Given the description of an element on the screen output the (x, y) to click on. 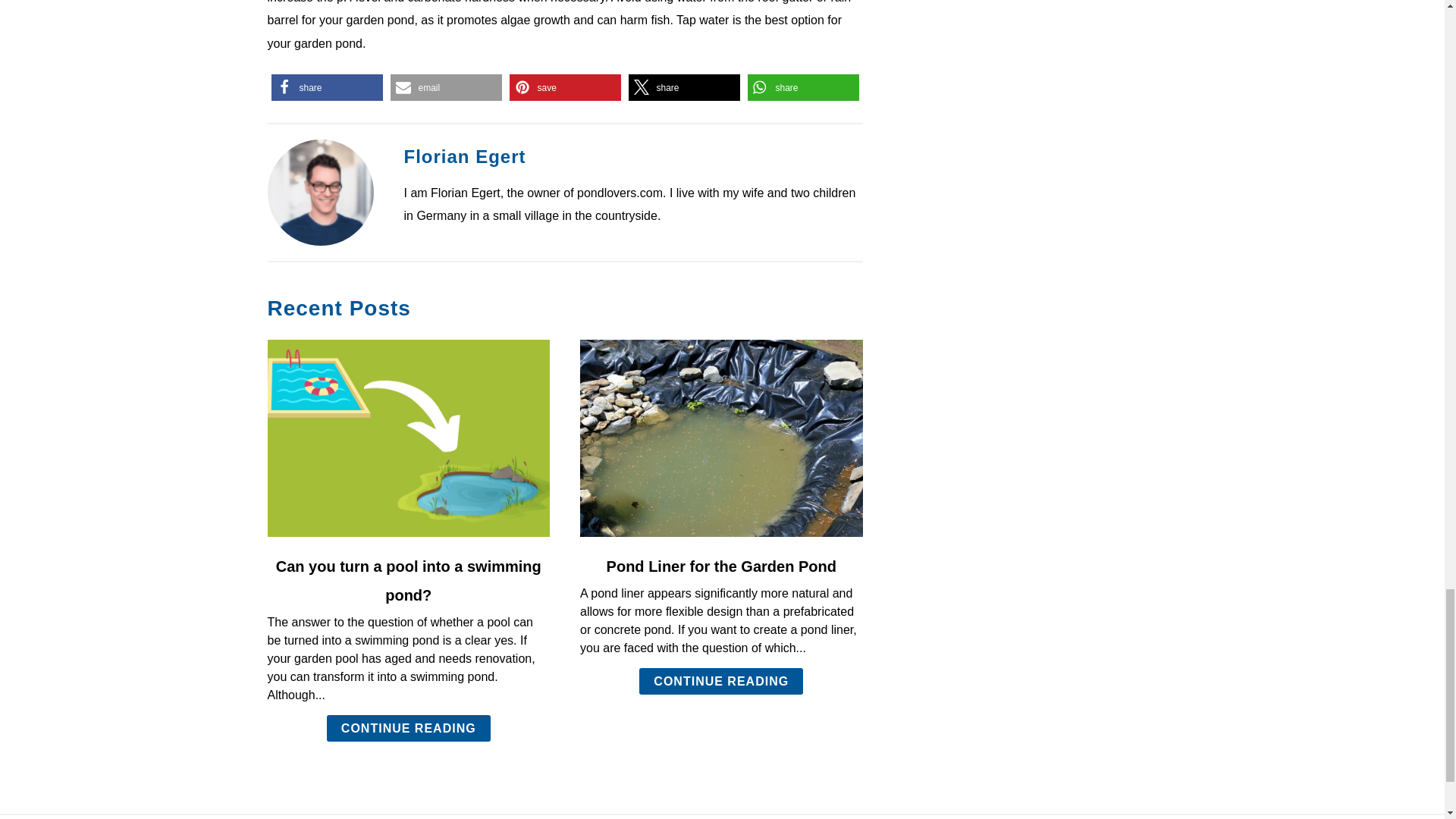
share  (803, 87)
share  (326, 87)
CONTINUE READING (408, 728)
CONTINUE READING (721, 681)
Florian Egert (464, 156)
email  (445, 87)
link to Pond Liner for the Garden Pond (721, 438)
Pin it on Pinterest (565, 87)
save  (565, 87)
Share on Facebook (326, 87)
